Given the description of an element on the screen output the (x, y) to click on. 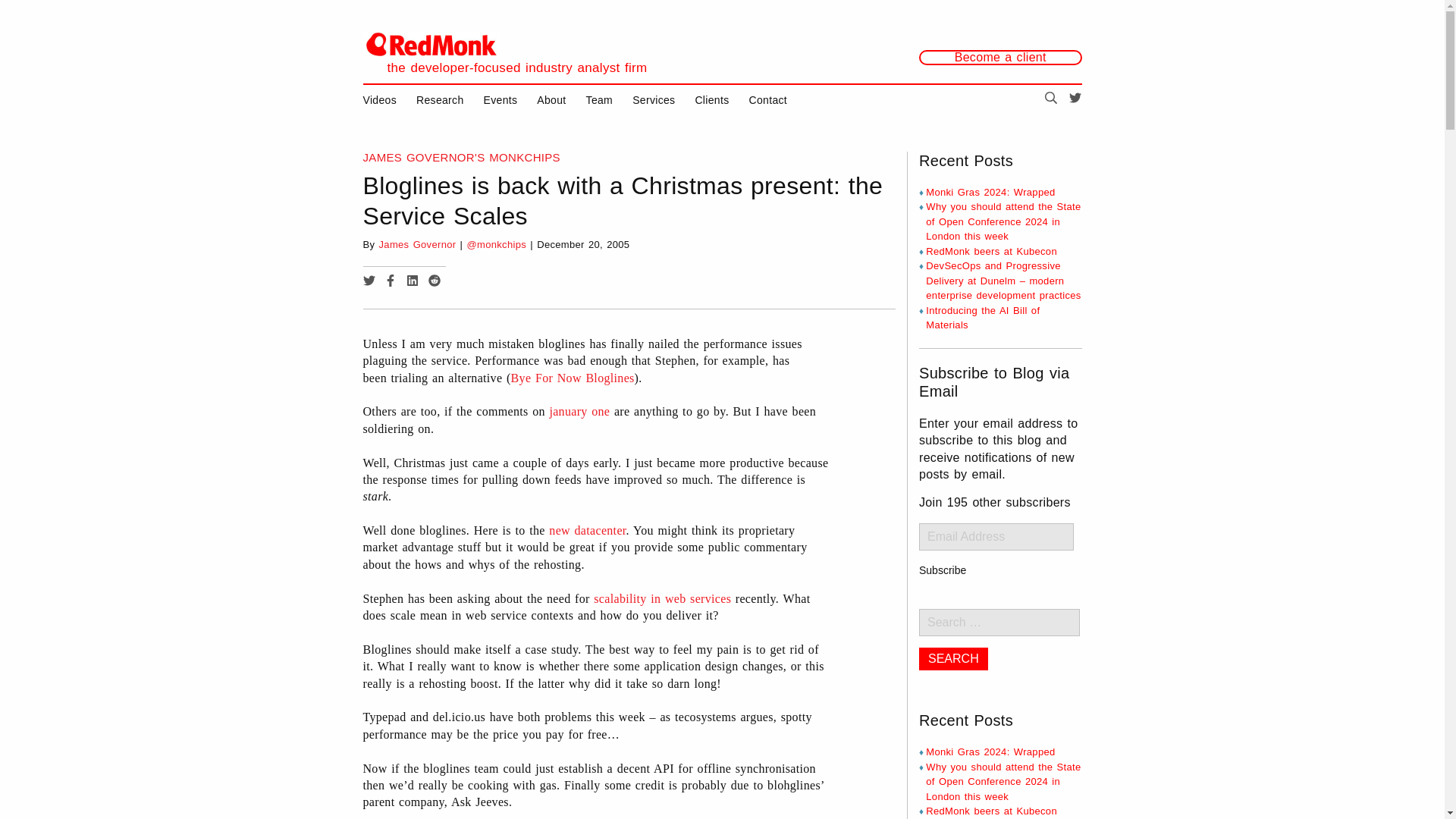
Bye For Now Bloglines (572, 377)
scalability in web services (662, 598)
RedMonk (430, 43)
Search (953, 658)
Monki Gras 2024: Wrapped (990, 751)
Become a client (999, 57)
Team (599, 100)
Contact (768, 100)
Search (953, 658)
Subscribe (942, 570)
